Given the description of an element on the screen output the (x, y) to click on. 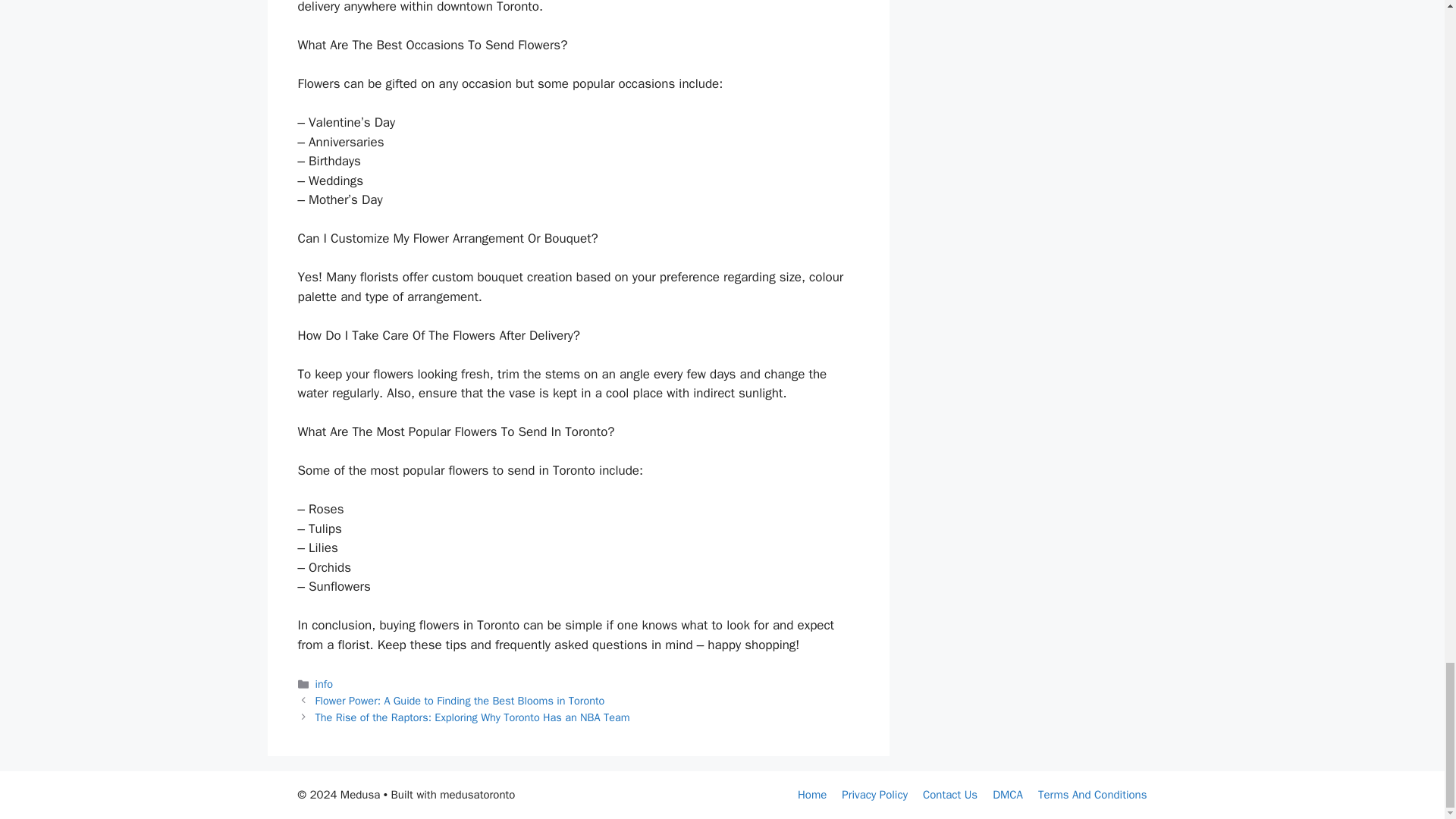
info (324, 684)
Flower Power: A Guide to Finding the Best Blooms in Toronto (460, 700)
